Given the description of an element on the screen output the (x, y) to click on. 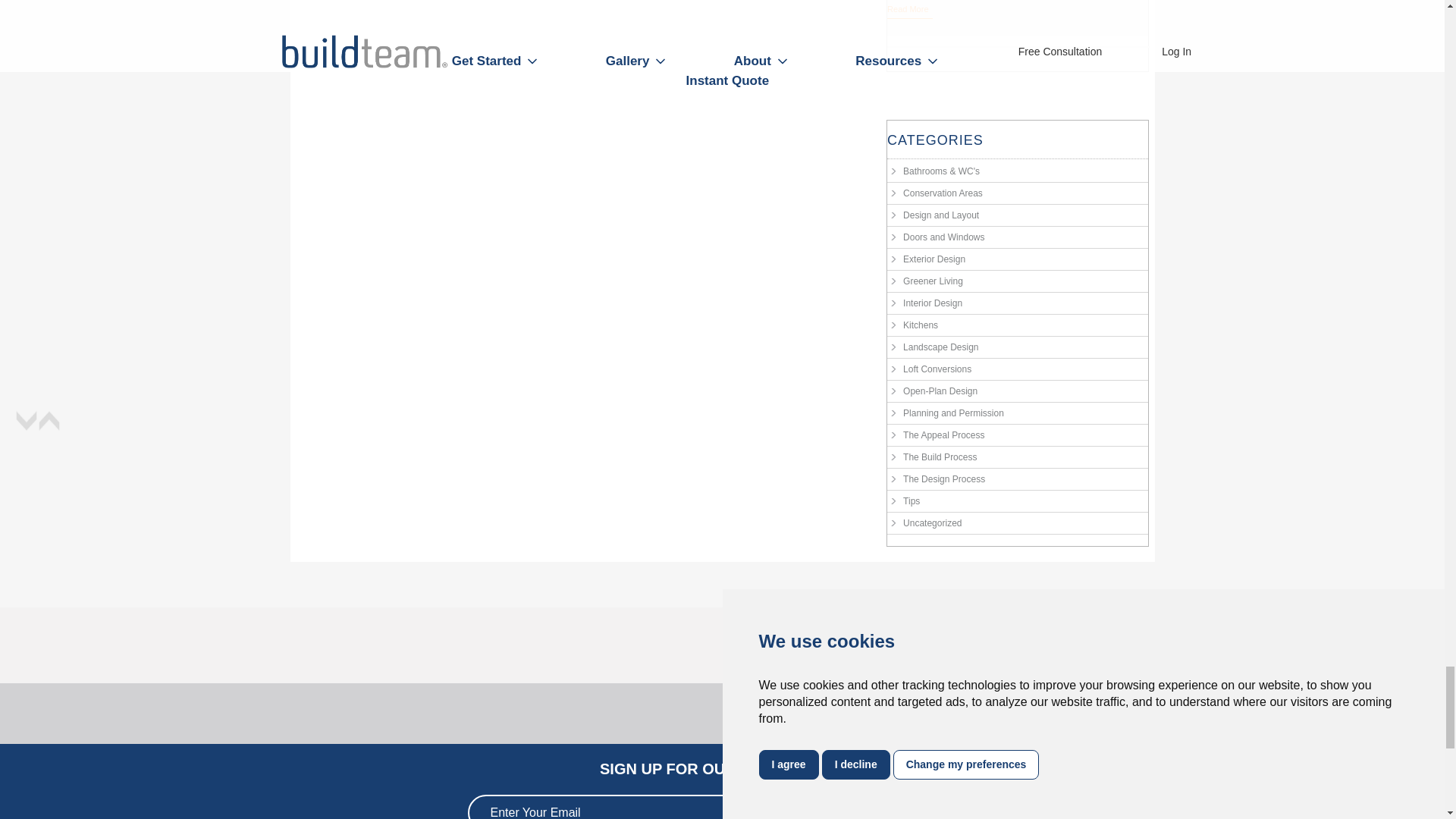
Subscribe (956, 809)
